Given the description of an element on the screen output the (x, y) to click on. 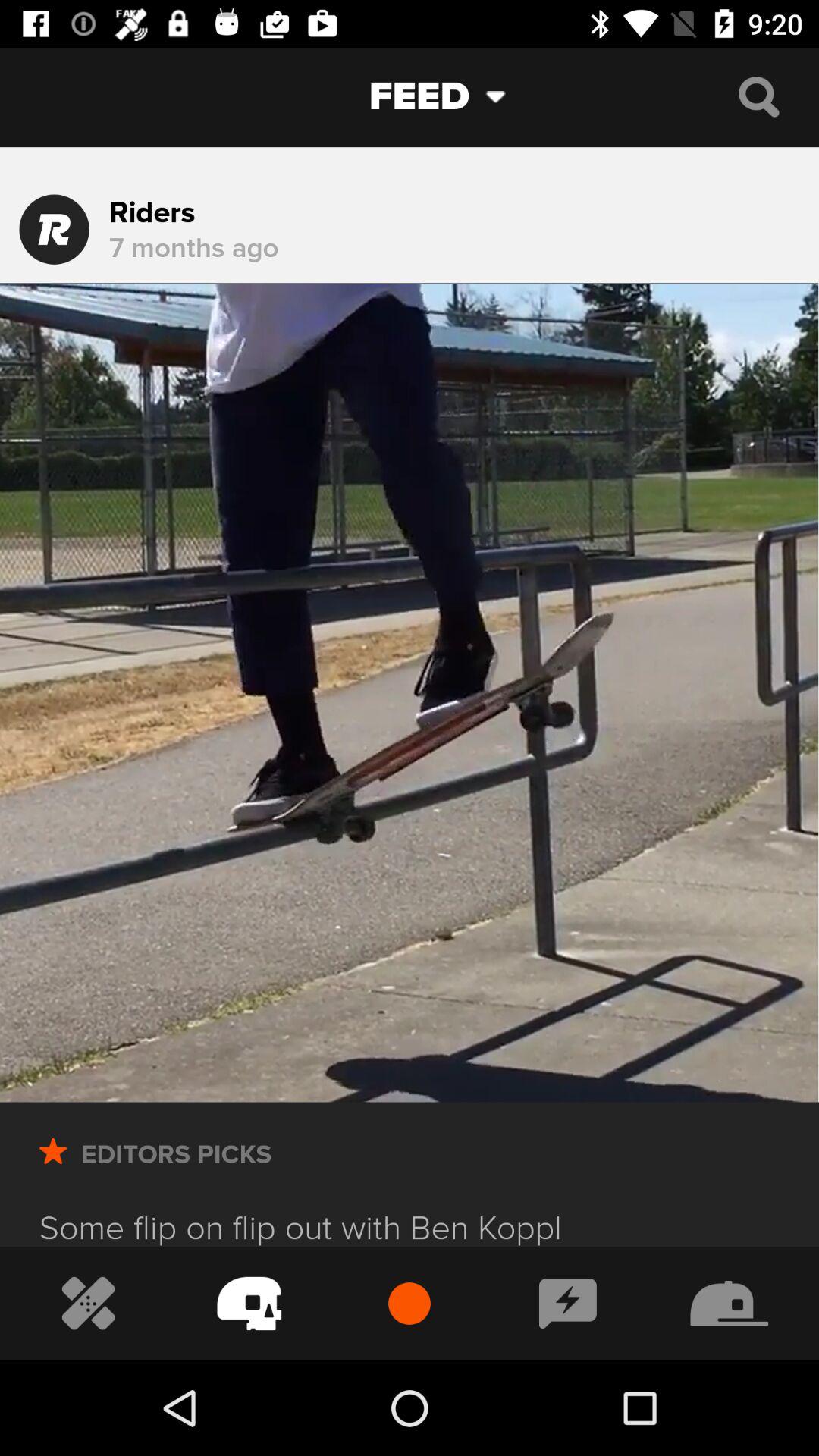
prevention (249, 1303)
